Given the description of an element on the screen output the (x, y) to click on. 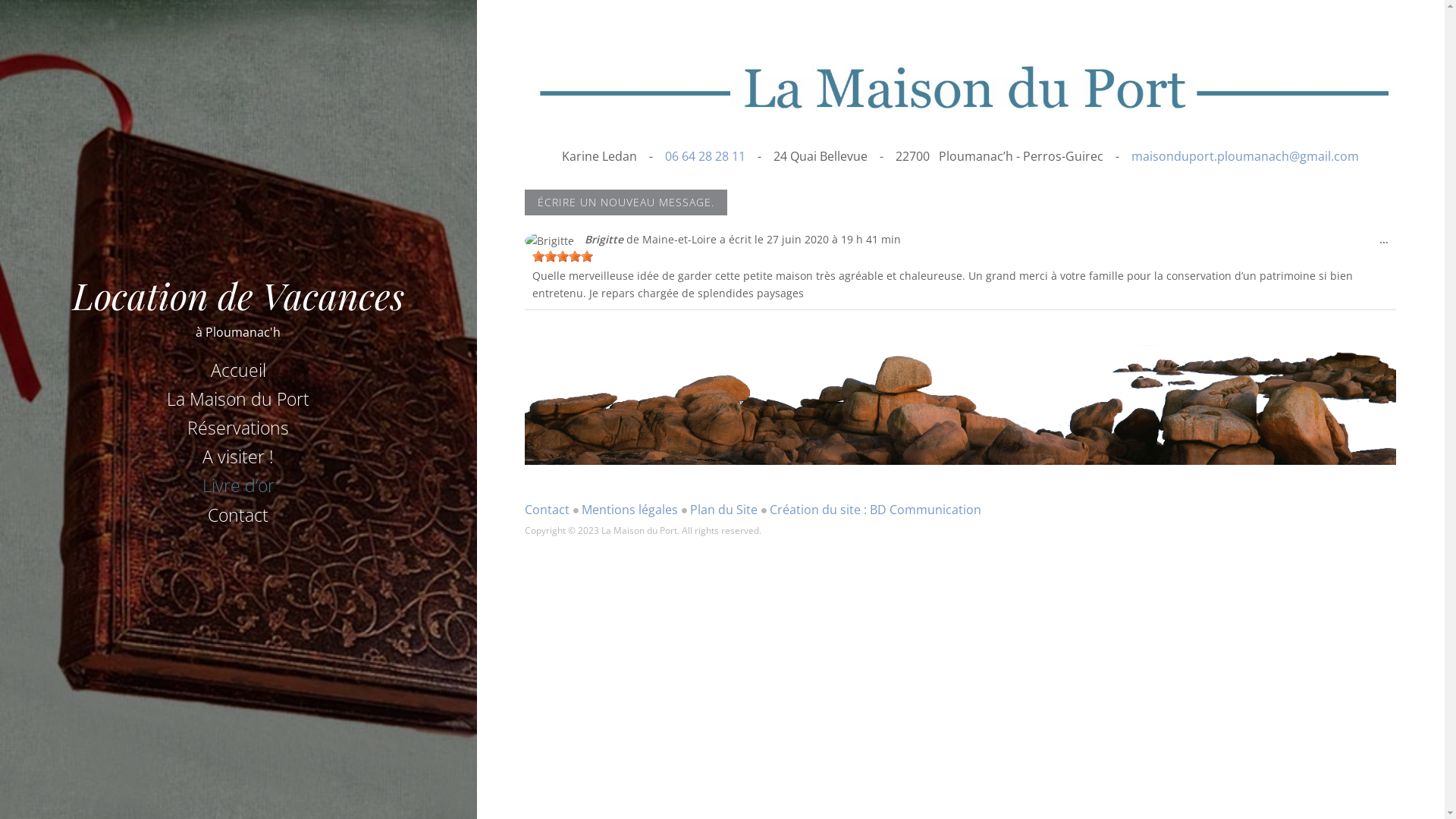
Accueil Element type: text (238, 369)
A visiter ! Element type: text (237, 456)
Contact Element type: text (546, 509)
Contact Element type: text (237, 514)
Plan du Site Element type: text (723, 509)
La Maison du Port Element type: text (237, 398)
Location de Vacances Element type: text (238, 294)
maisonduport.ploumanach@gmail.com Element type: text (1244, 155)
 06 64 28 28 11   Element type: text (706, 155)
